Given the description of an element on the screen output the (x, y) to click on. 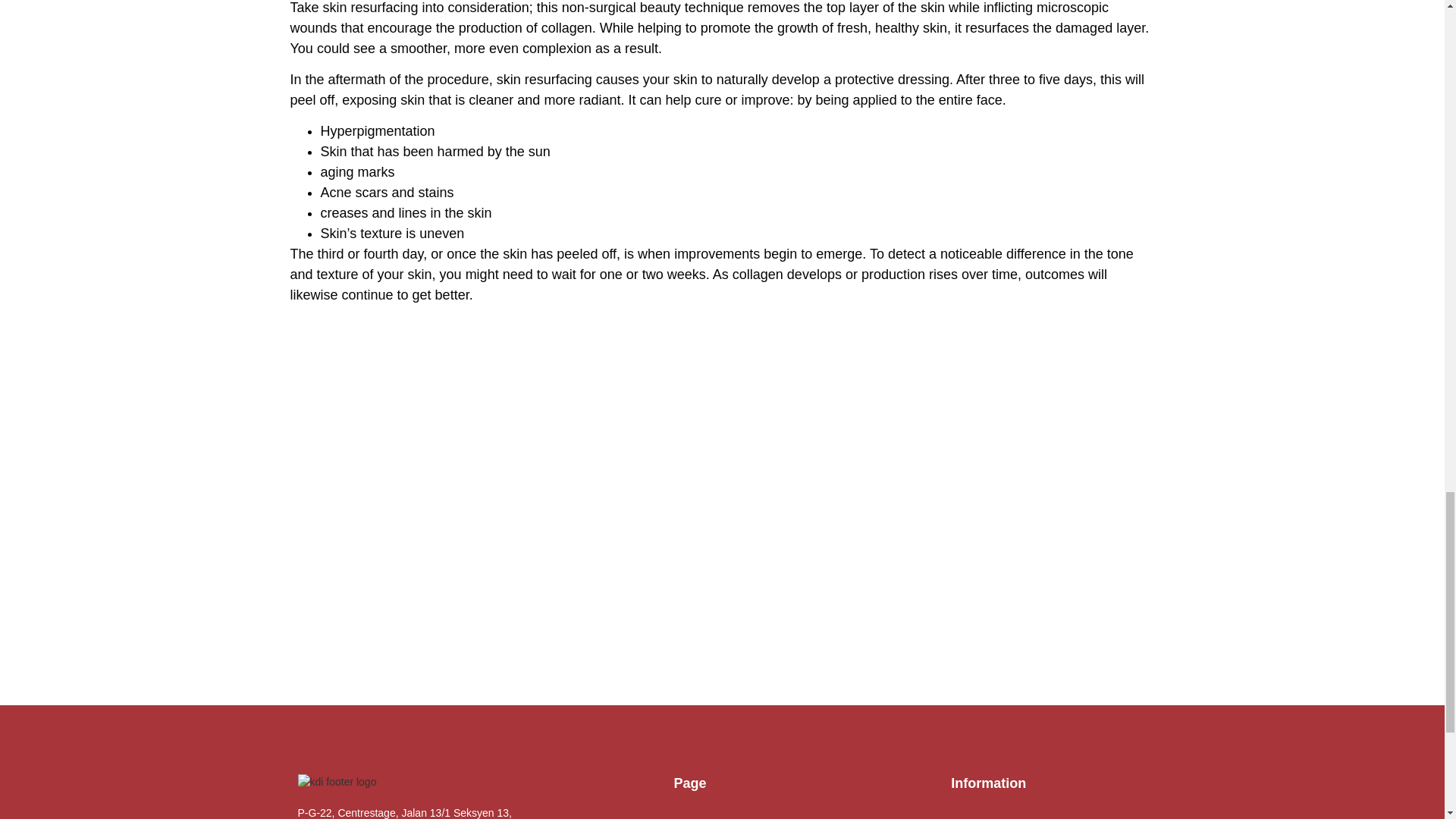
kdi footer logo (336, 781)
